Given the description of an element on the screen output the (x, y) to click on. 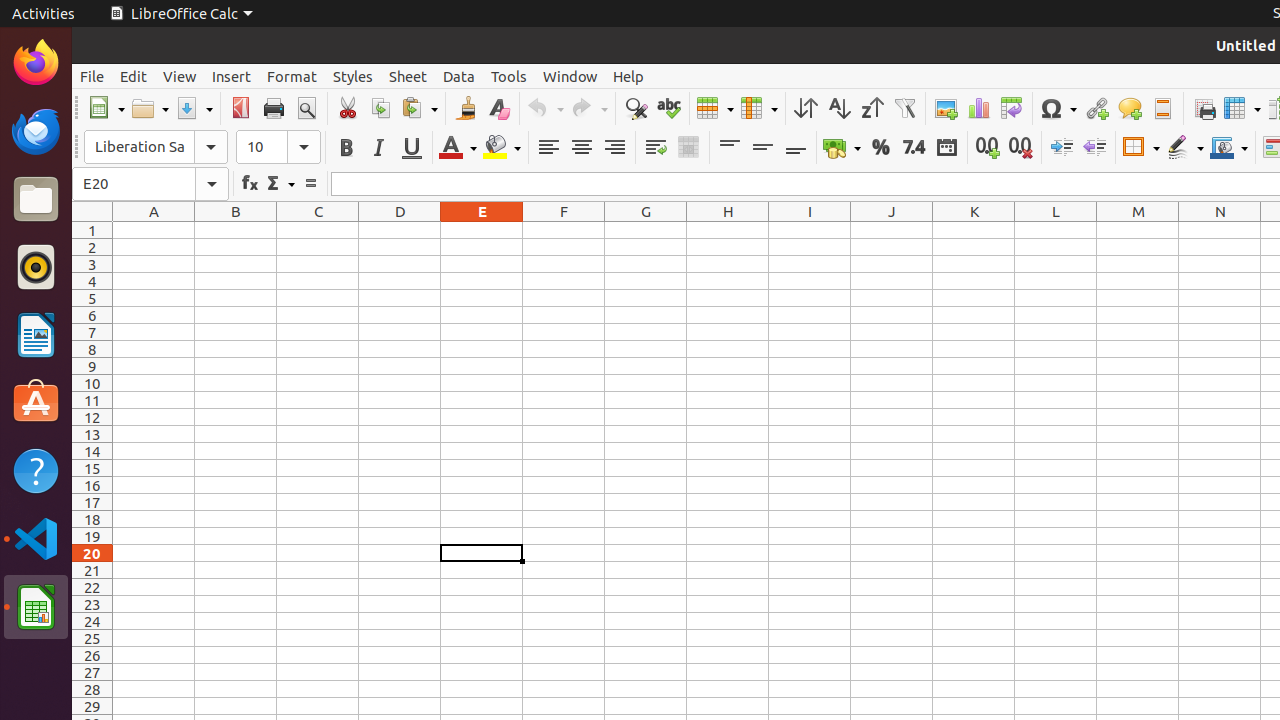
Open Element type: push-button (150, 108)
B1 Element type: table-cell (236, 230)
Date Element type: push-button (946, 147)
Formula Element type: push-button (310, 183)
Decrease Element type: push-button (1094, 147)
